Given the description of an element on the screen output the (x, y) to click on. 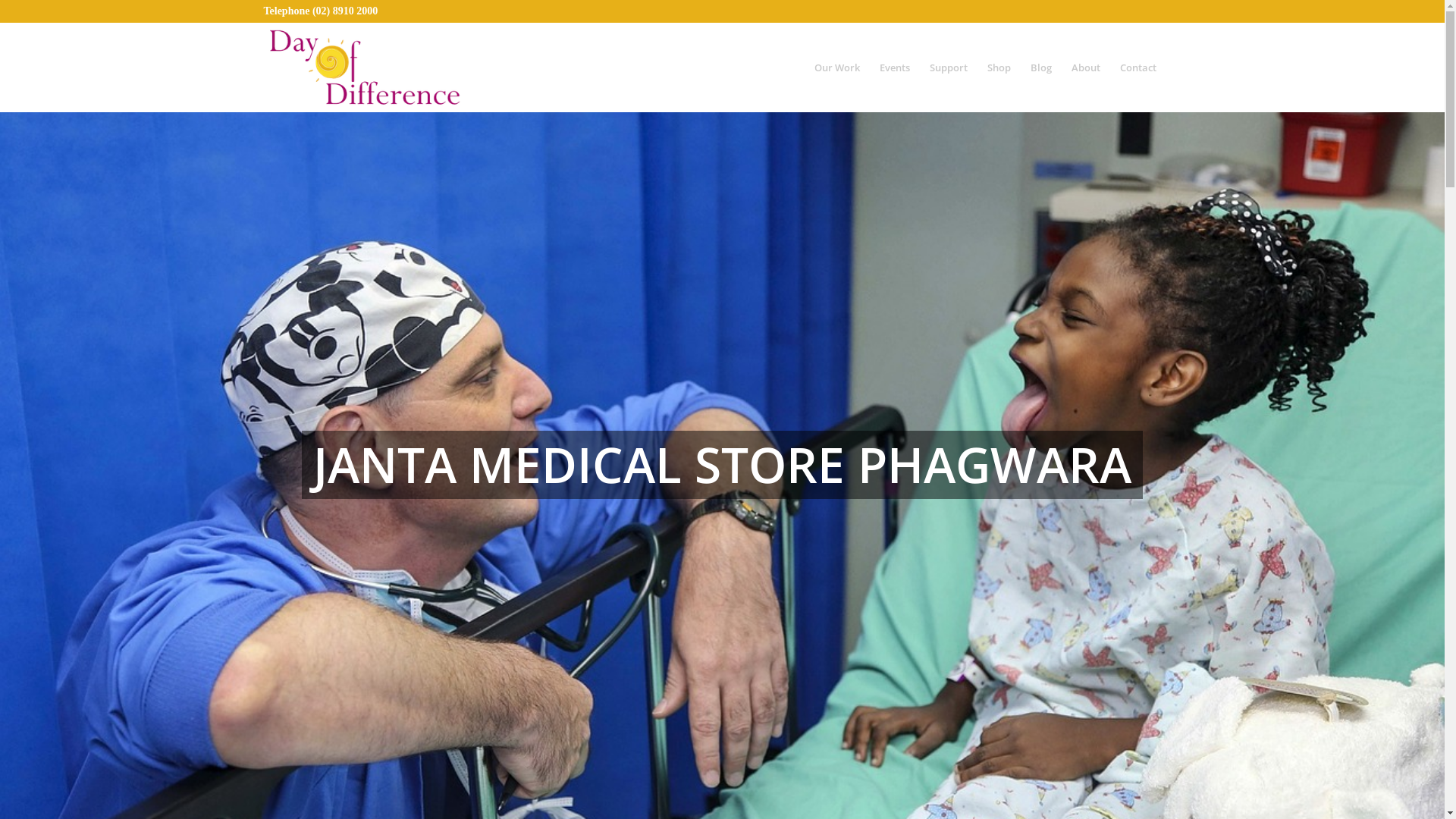
Events Element type: text (894, 67)
Blog Element type: text (1040, 67)
Support Element type: text (947, 67)
Our Work Element type: text (836, 67)
Contact Element type: text (1133, 67)
Shop Element type: text (997, 67)
About Element type: text (1085, 67)
